Given the description of an element on the screen output the (x, y) to click on. 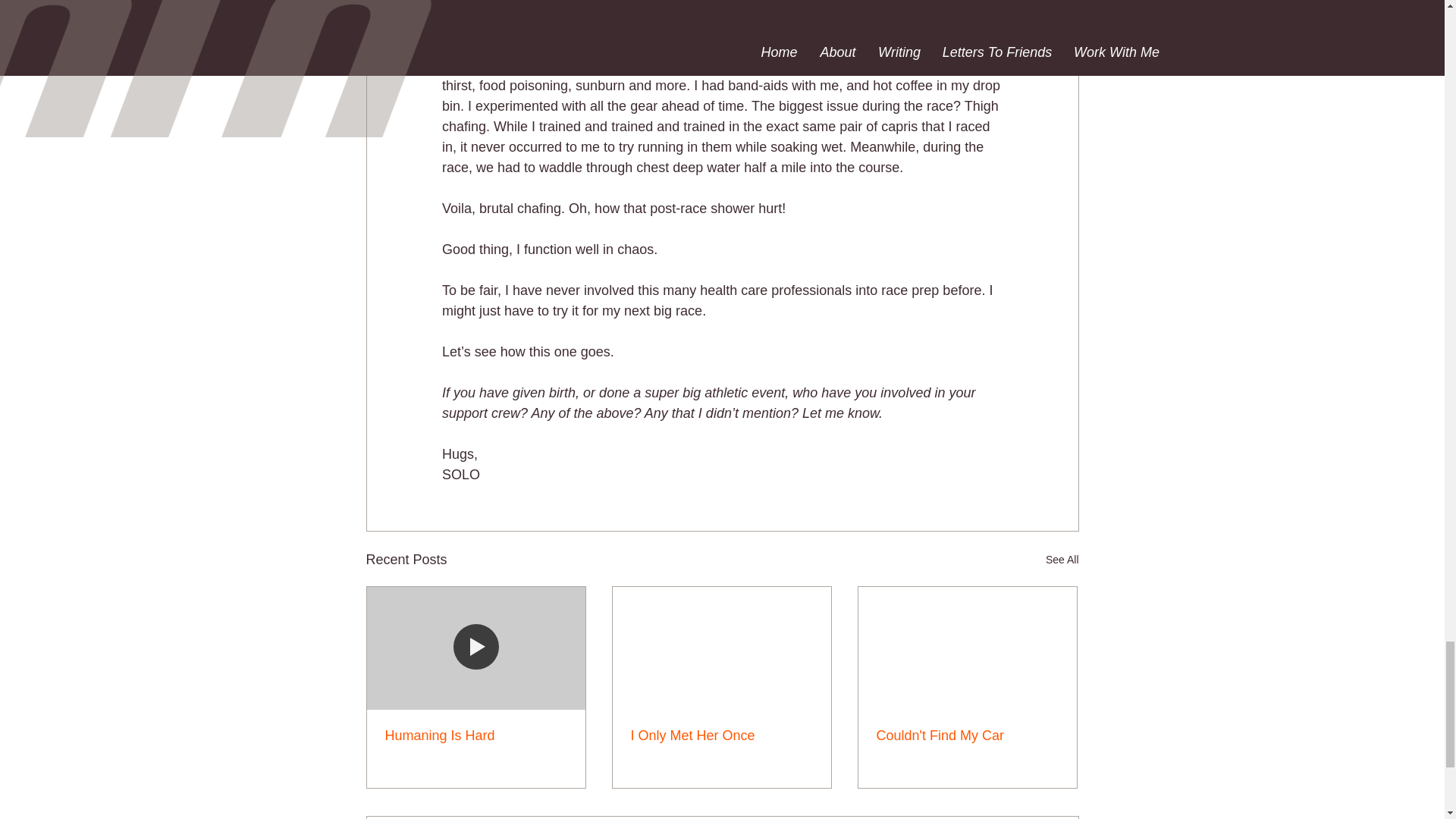
See All (1061, 559)
I Only Met Her Once (721, 735)
Couldn't Find My Car (967, 735)
Humaning Is Hard (476, 735)
the inaugural Spartan Ultra Beast (738, 64)
